Given the description of an element on the screen output the (x, y) to click on. 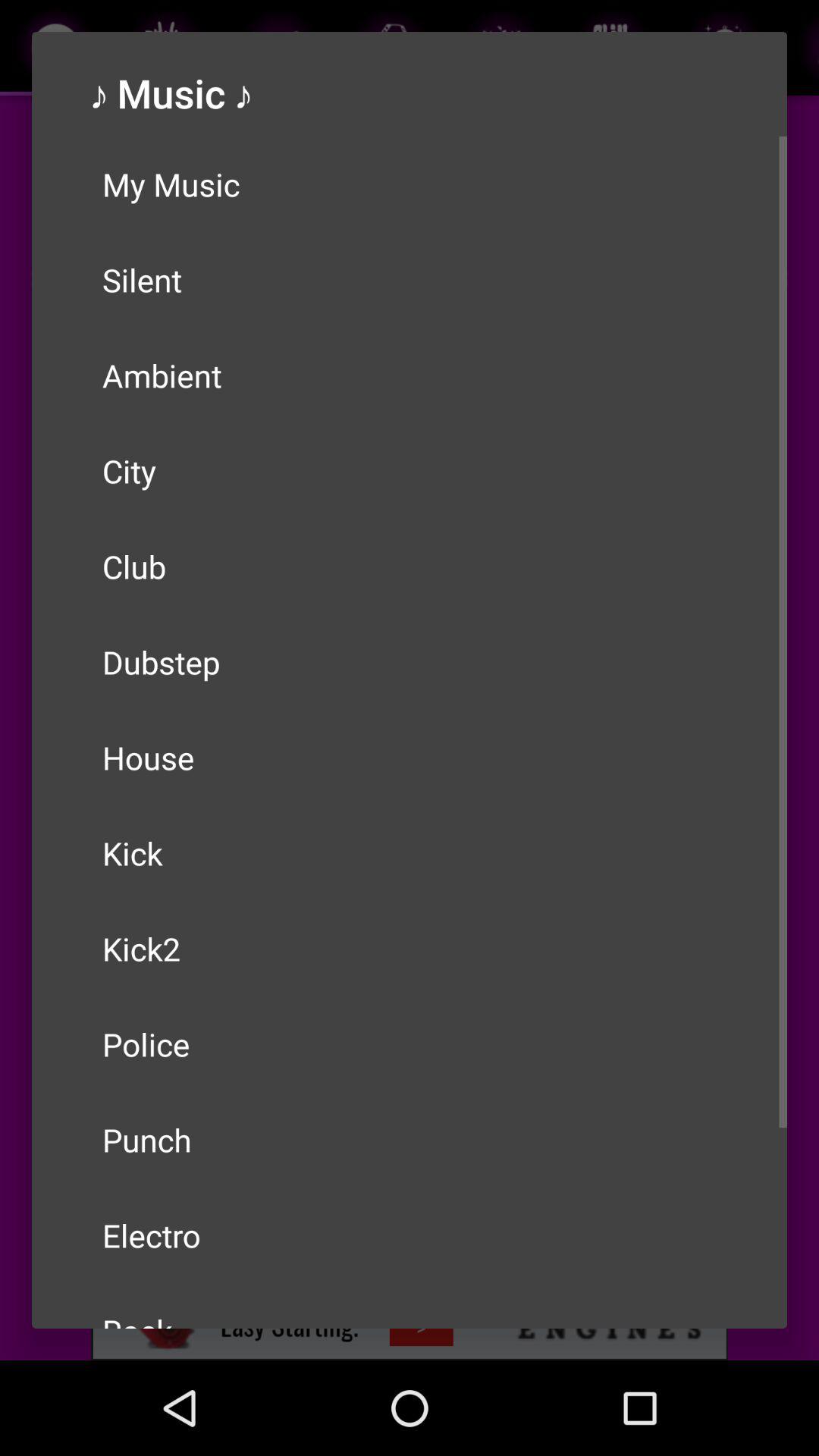
launch the icon below the 		electro icon (409, 1305)
